Given the description of an element on the screen output the (x, y) to click on. 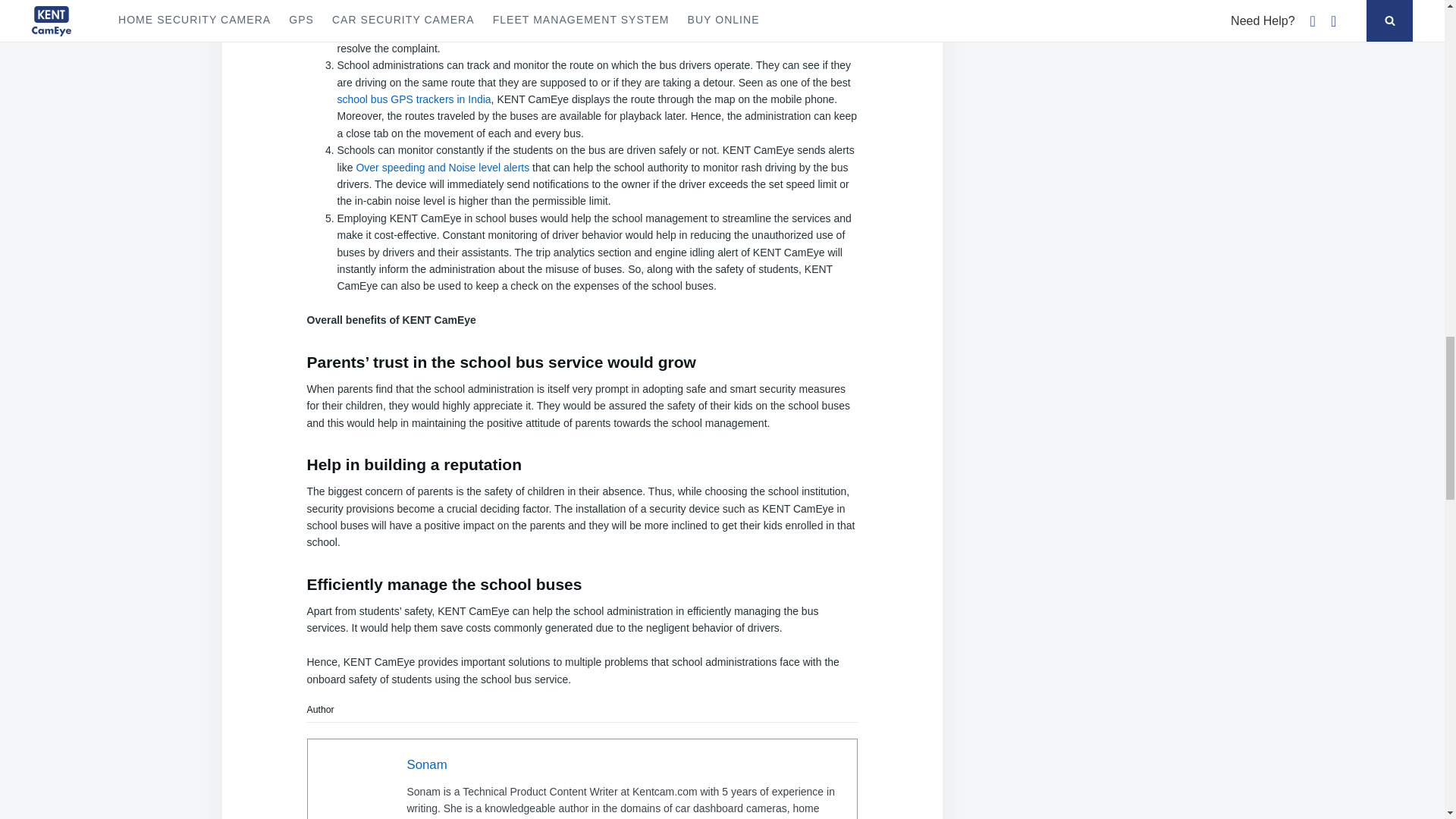
Over speeding and Noise level alerts (442, 167)
Sonam (426, 764)
school bus GPS trackers in India (413, 99)
Sonam (426, 764)
